Given the description of an element on the screen output the (x, y) to click on. 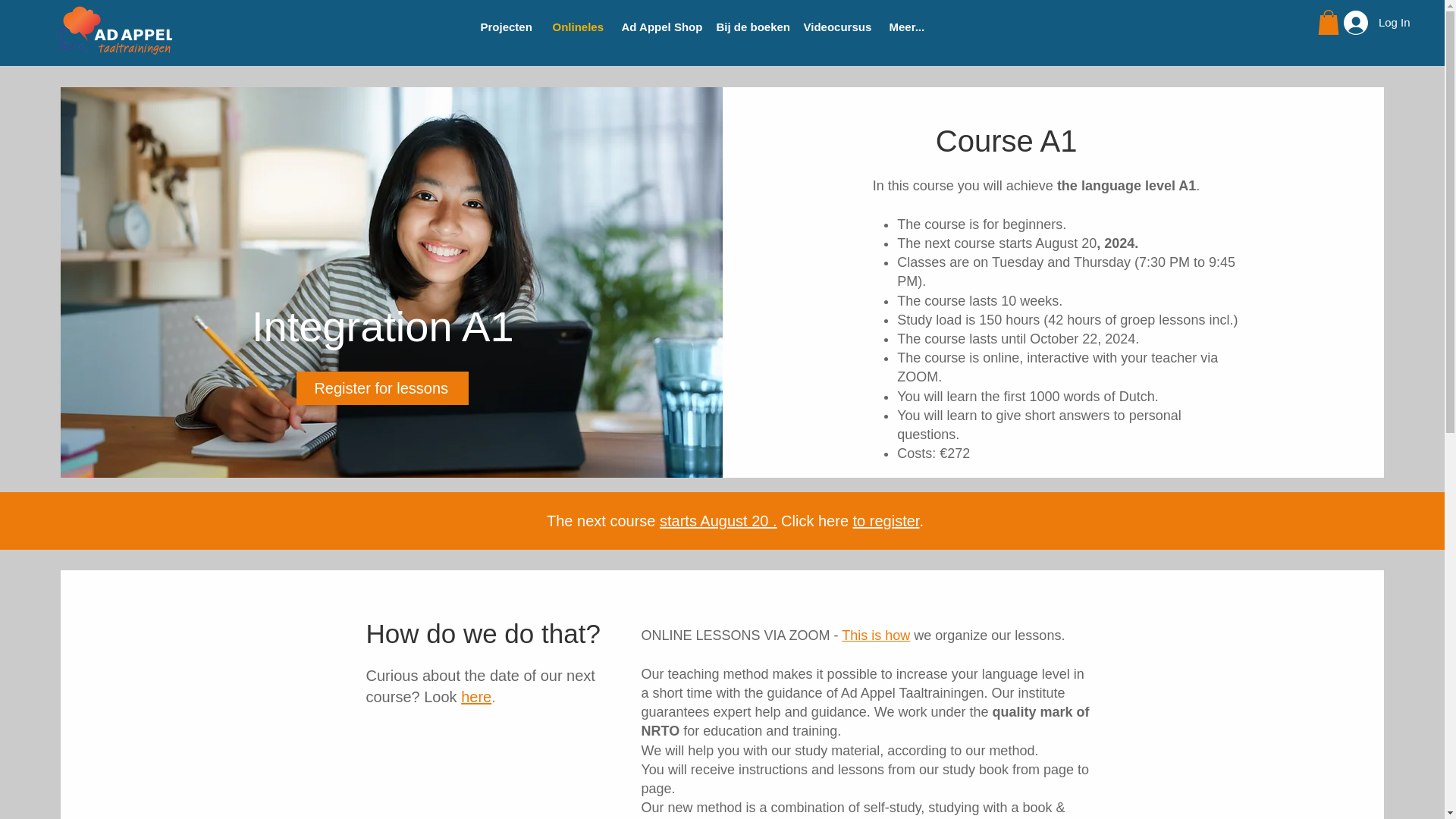
Register for lessons (382, 387)
here (476, 696)
Onlineles (575, 26)
Bij de boeken (748, 26)
ad-apple-logo-removebg-preview.png (115, 29)
Ad Appel Shop (657, 26)
Log In (1353, 22)
Videocursus (834, 26)
This is how (875, 635)
Projecten (504, 26)
to register (886, 520)
